Given the description of an element on the screen output the (x, y) to click on. 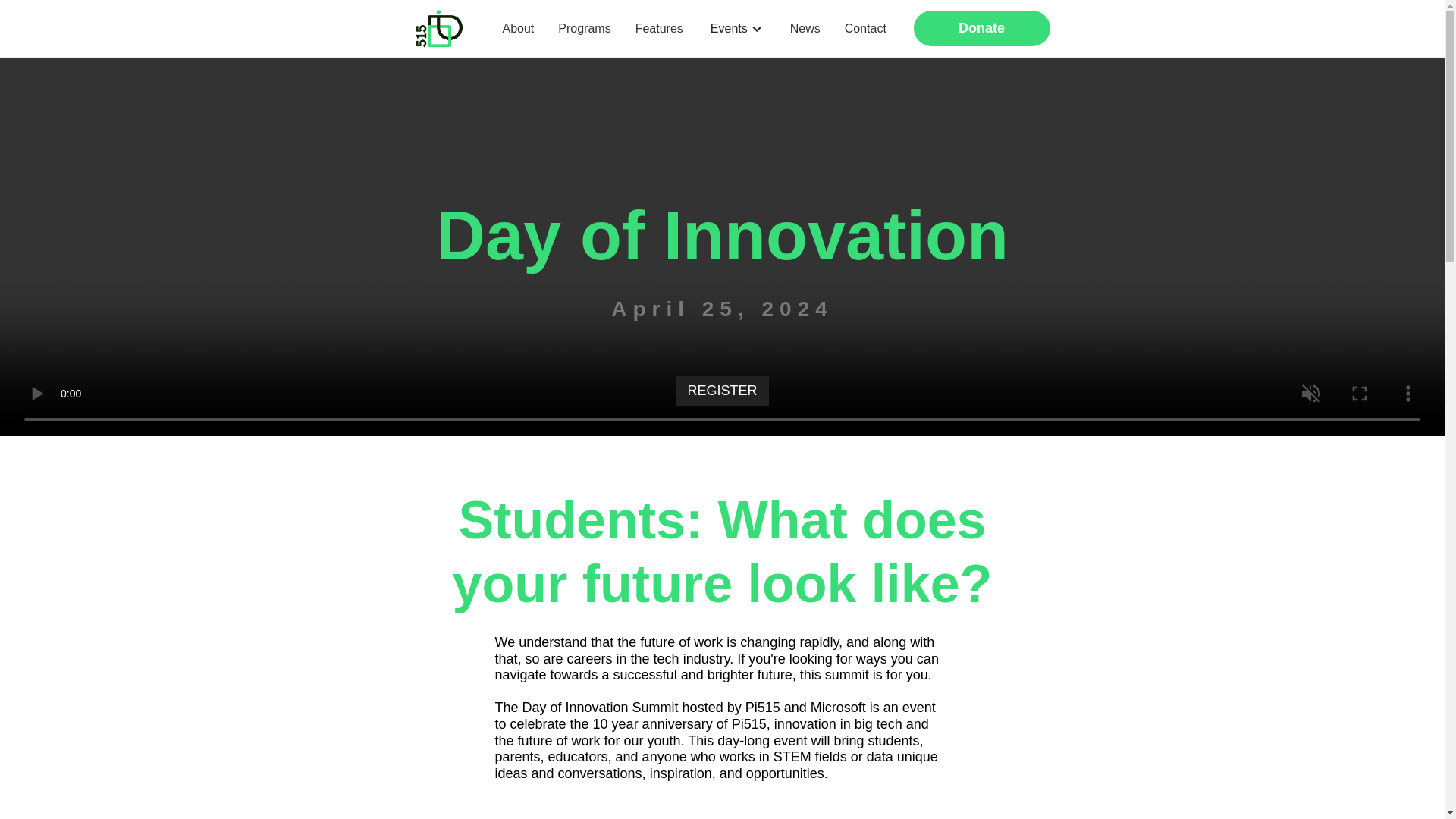
Donate (980, 28)
About (517, 27)
Contact (865, 27)
News (804, 27)
REGISTER (721, 390)
Features (659, 27)
Programs (584, 27)
